Given the description of an element on the screen output the (x, y) to click on. 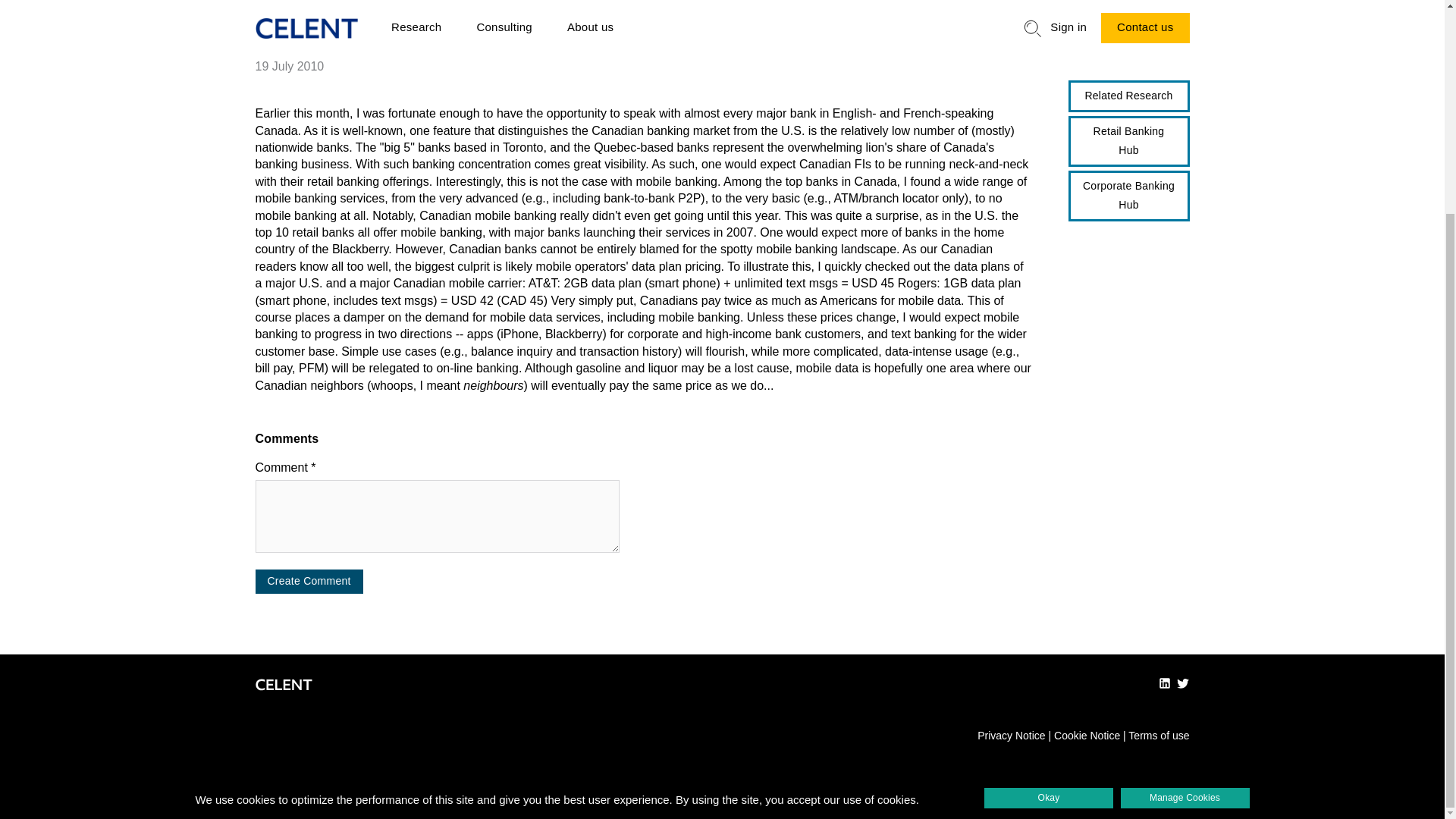
Manage Cookies (1185, 517)
Create Comment (308, 581)
Okay (1048, 517)
